Given the description of an element on the screen output the (x, y) to click on. 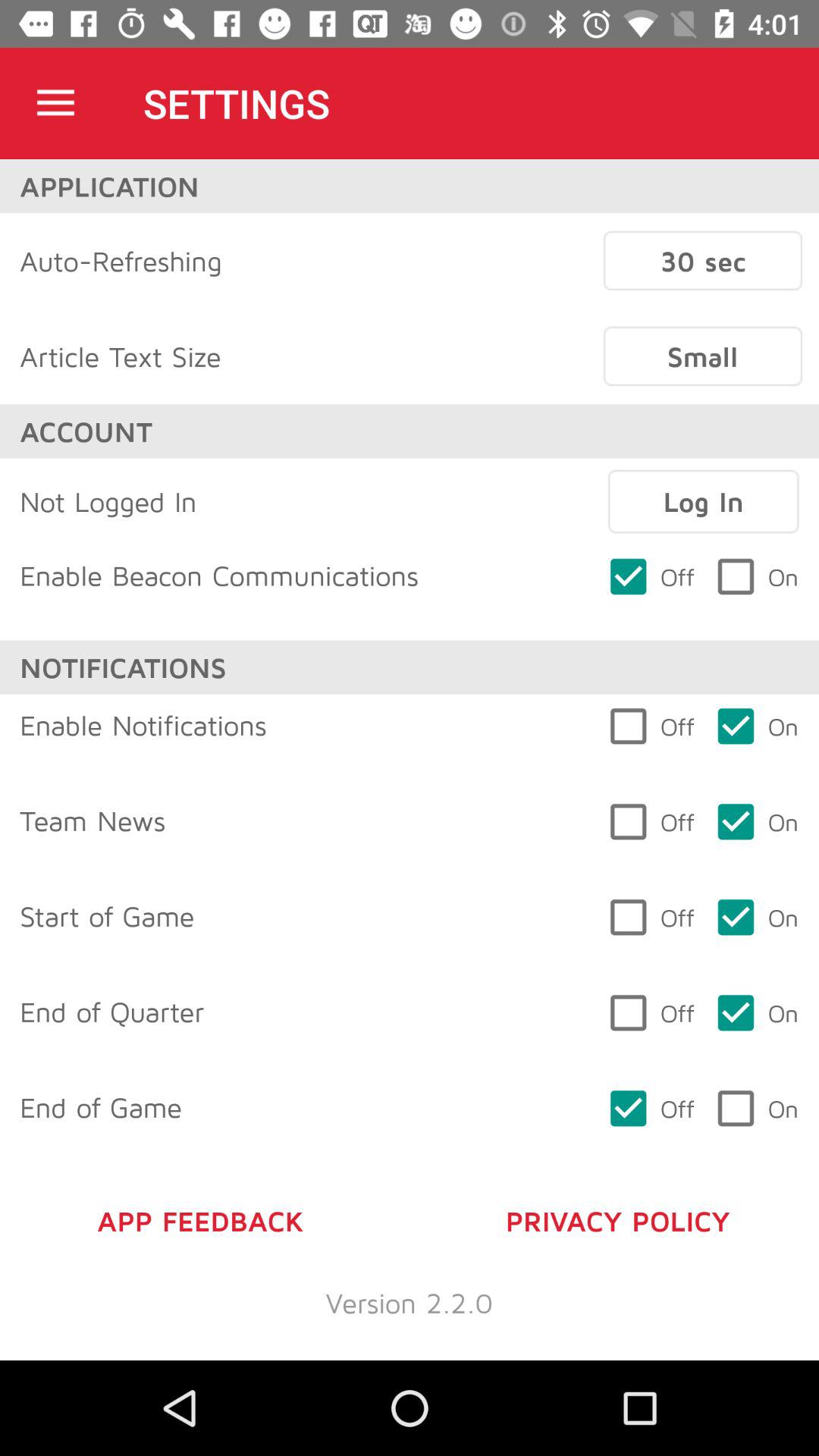
choose the icon below app feedback icon (409, 1302)
